Given the description of an element on the screen output the (x, y) to click on. 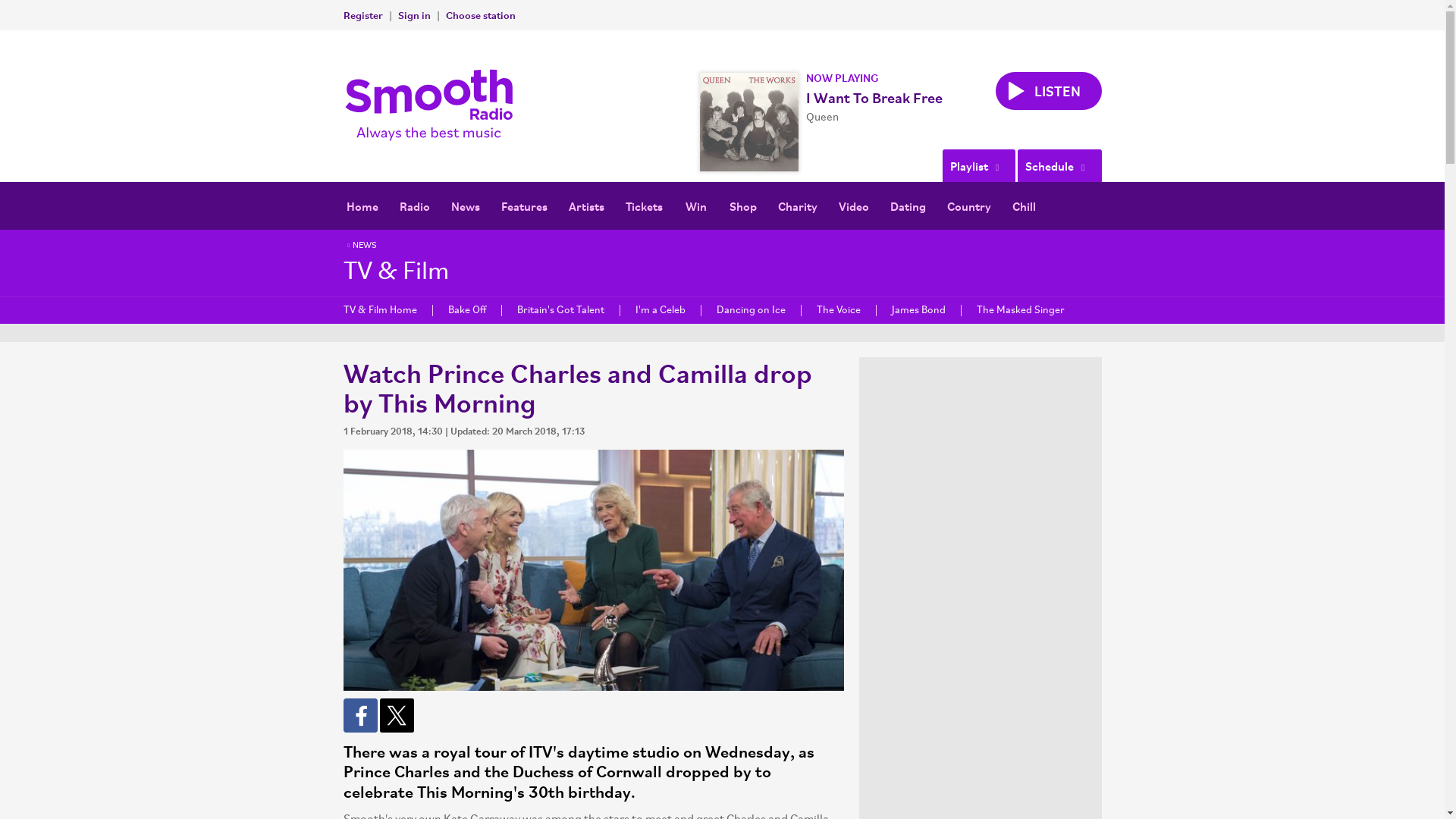
Sign in (413, 14)
Video (853, 205)
Dancing on Ice (750, 310)
LISTEN (1047, 90)
I'm a Celeb (659, 310)
Bake Off (466, 310)
Dating (907, 205)
Shop (743, 205)
Features (523, 205)
James Bond (917, 310)
Artists (585, 205)
Smooth (432, 105)
Home (361, 205)
Charity (797, 205)
NEWS (359, 245)
